Given the description of an element on the screen output the (x, y) to click on. 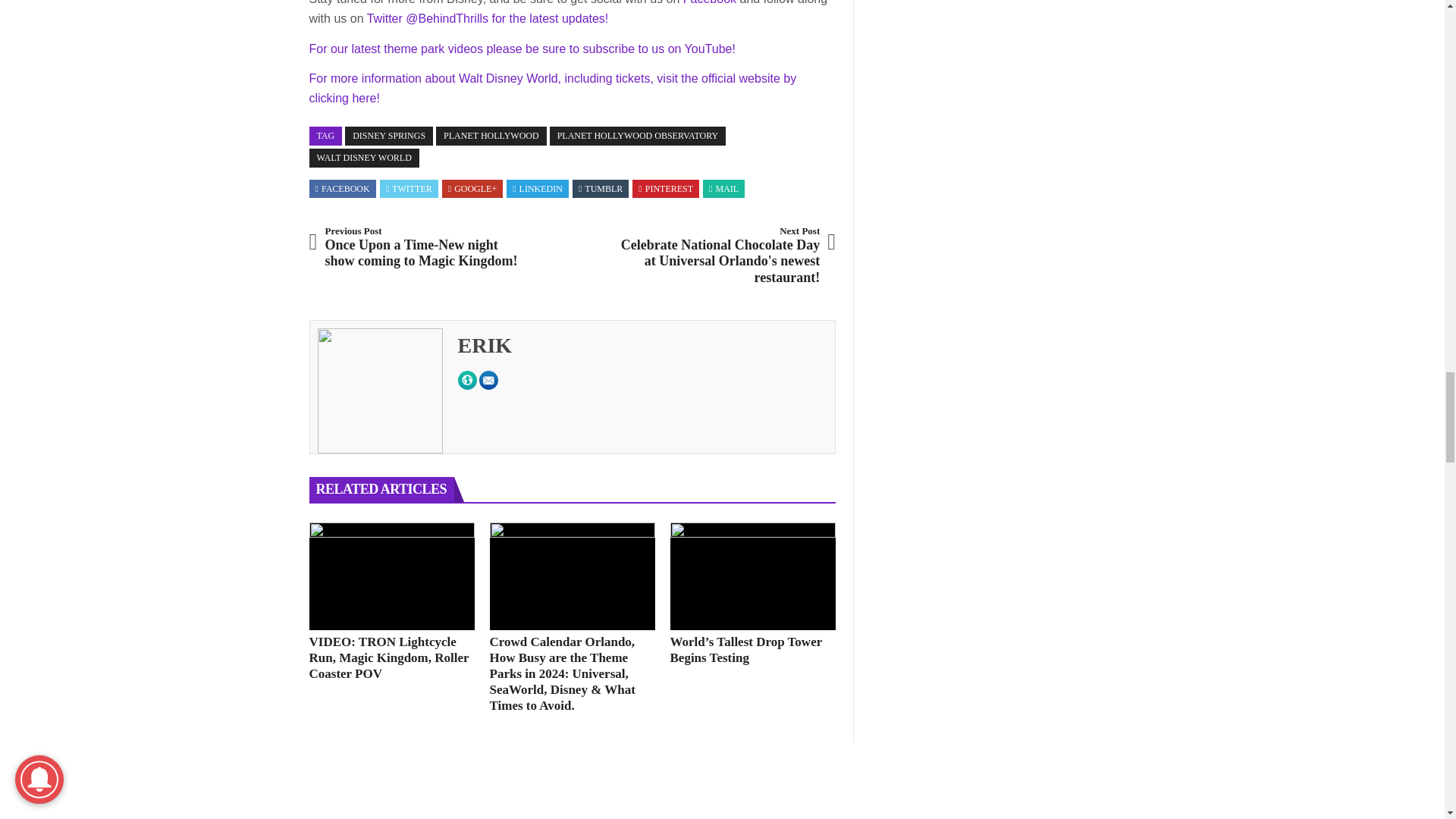
Tumblr (600, 188)
Google Plus (472, 188)
Facebook (342, 188)
LinkedIn (537, 188)
Mail (723, 188)
Pinterest (666, 188)
Twitter (408, 188)
